Given the description of an element on the screen output the (x, y) to click on. 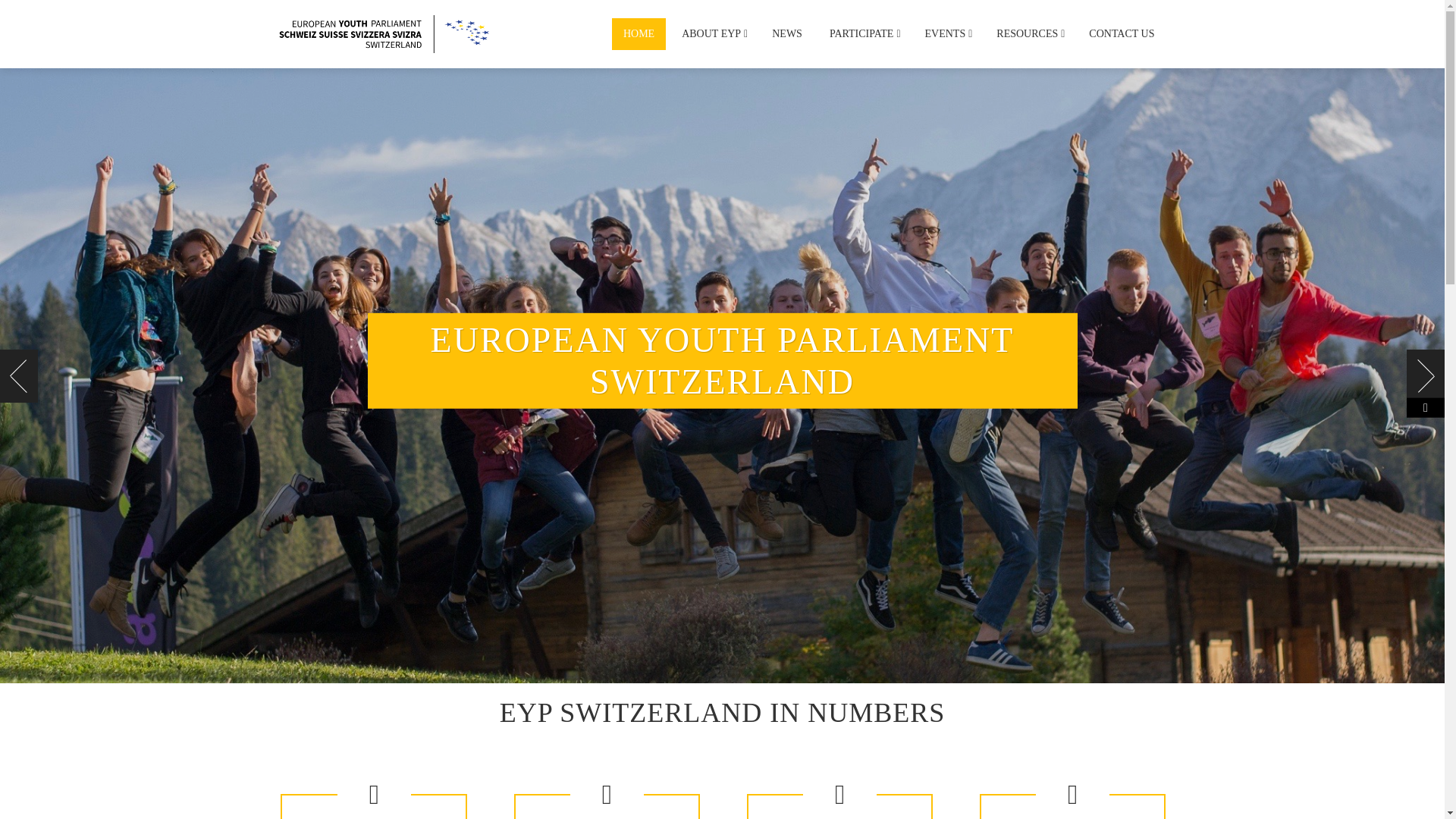
NEWS (786, 33)
CONTACT US (1121, 33)
HOME (638, 33)
PARTICIPATE (863, 33)
RESOURCES (1029, 33)
EVENTS (947, 33)
ABOUT EYP (712, 33)
